Given the description of an element on the screen output the (x, y) to click on. 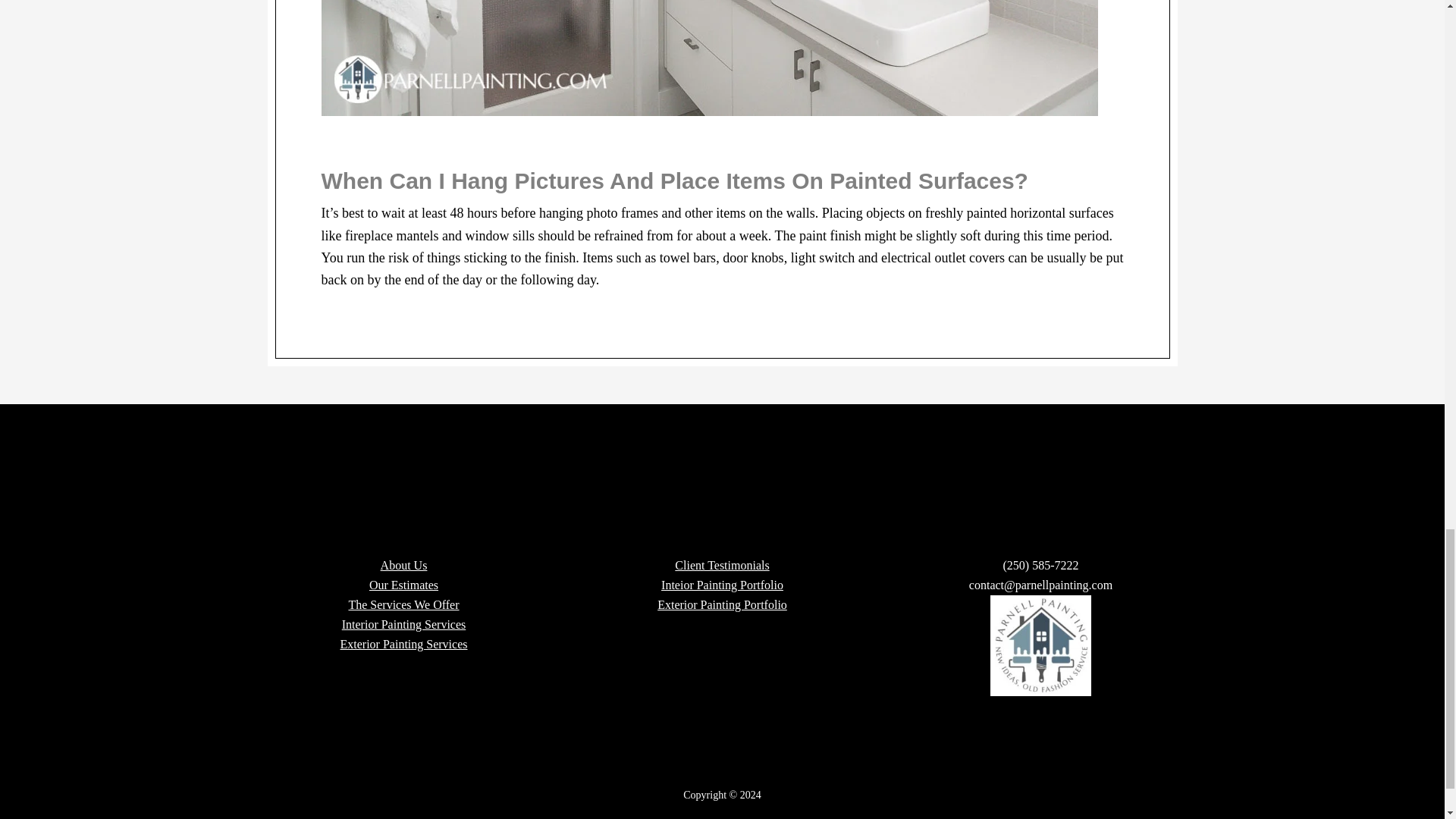
Interior Painting Process (403, 624)
Exterior Painting Portfolio (722, 604)
Services We Offer (402, 604)
Interior Painting Portfolio (722, 584)
Inteior Painting Portfolio (722, 584)
Interior Painting Services (403, 624)
About Us (404, 564)
Exterior Painting Portfolio (722, 604)
Our Estimates (403, 584)
Client Testimonials (721, 564)
Our Estimates (403, 584)
Exterior Painting Process (403, 644)
About Us (404, 564)
The Services We Offer (402, 604)
Exterior Painting Services (403, 644)
